Given the description of an element on the screen output the (x, y) to click on. 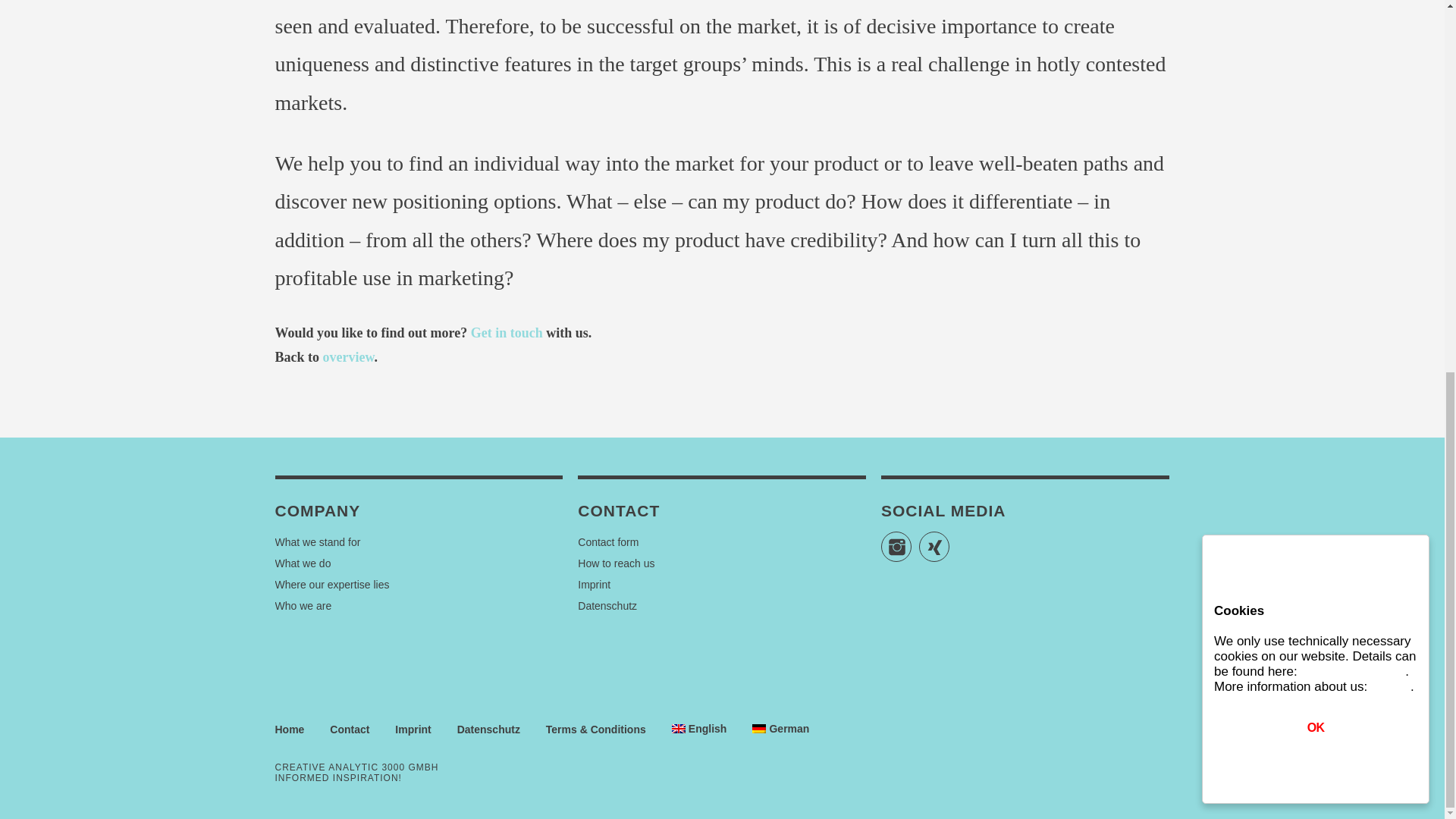
Imprint (594, 584)
OK (1315, 47)
Xing (933, 546)
English (698, 728)
Datenschutz (607, 605)
What we stand for (317, 541)
Imprint (1390, 6)
Where our expertise lies (331, 584)
Xing (933, 546)
Instagram (895, 546)
